Given the description of an element on the screen output the (x, y) to click on. 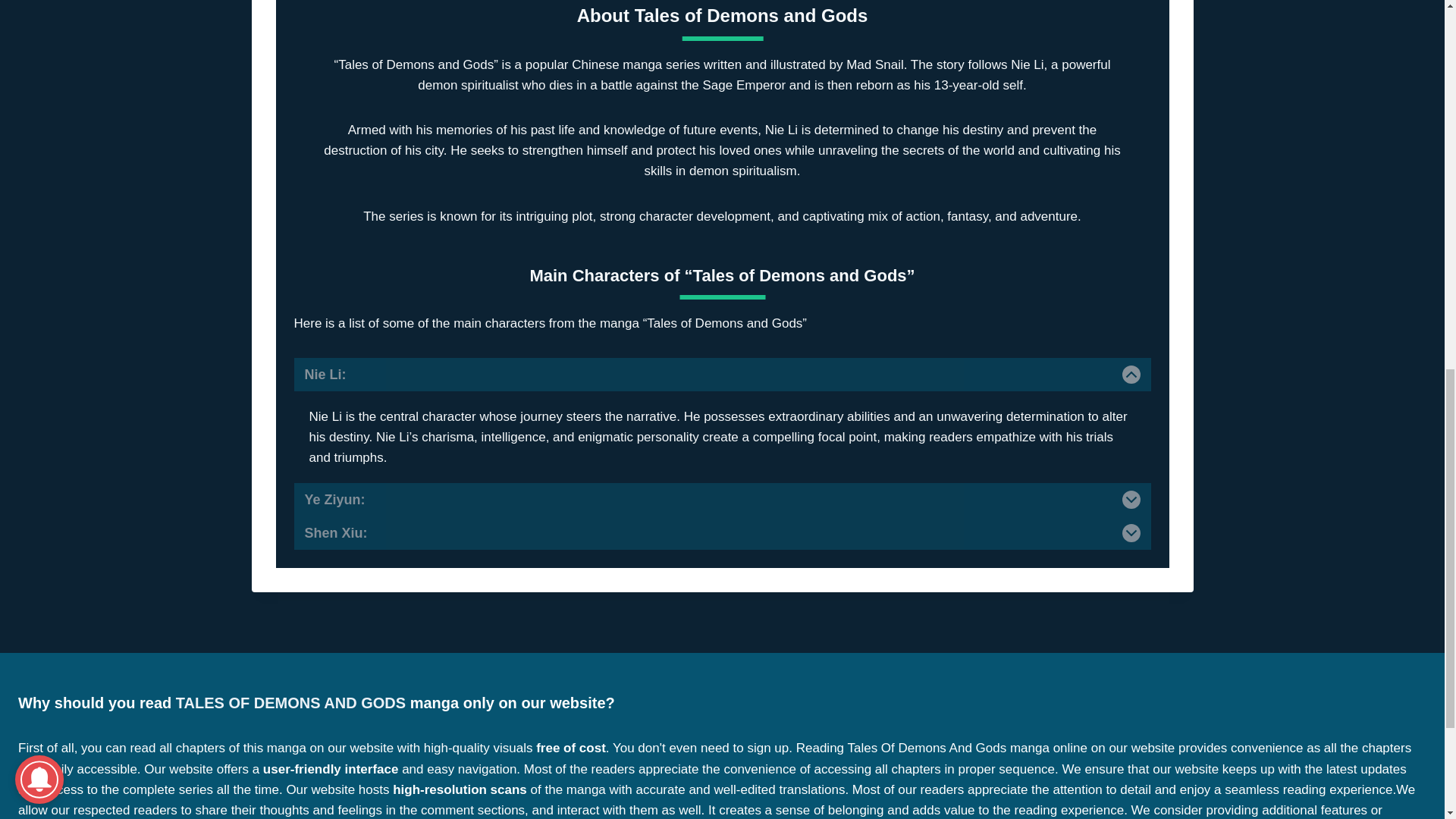
Nie Li: (722, 374)
Shen Xiu: (722, 532)
Ye Ziyun: (722, 499)
TALES OF DEMONS AND GODS (293, 702)
